Given the description of an element on the screen output the (x, y) to click on. 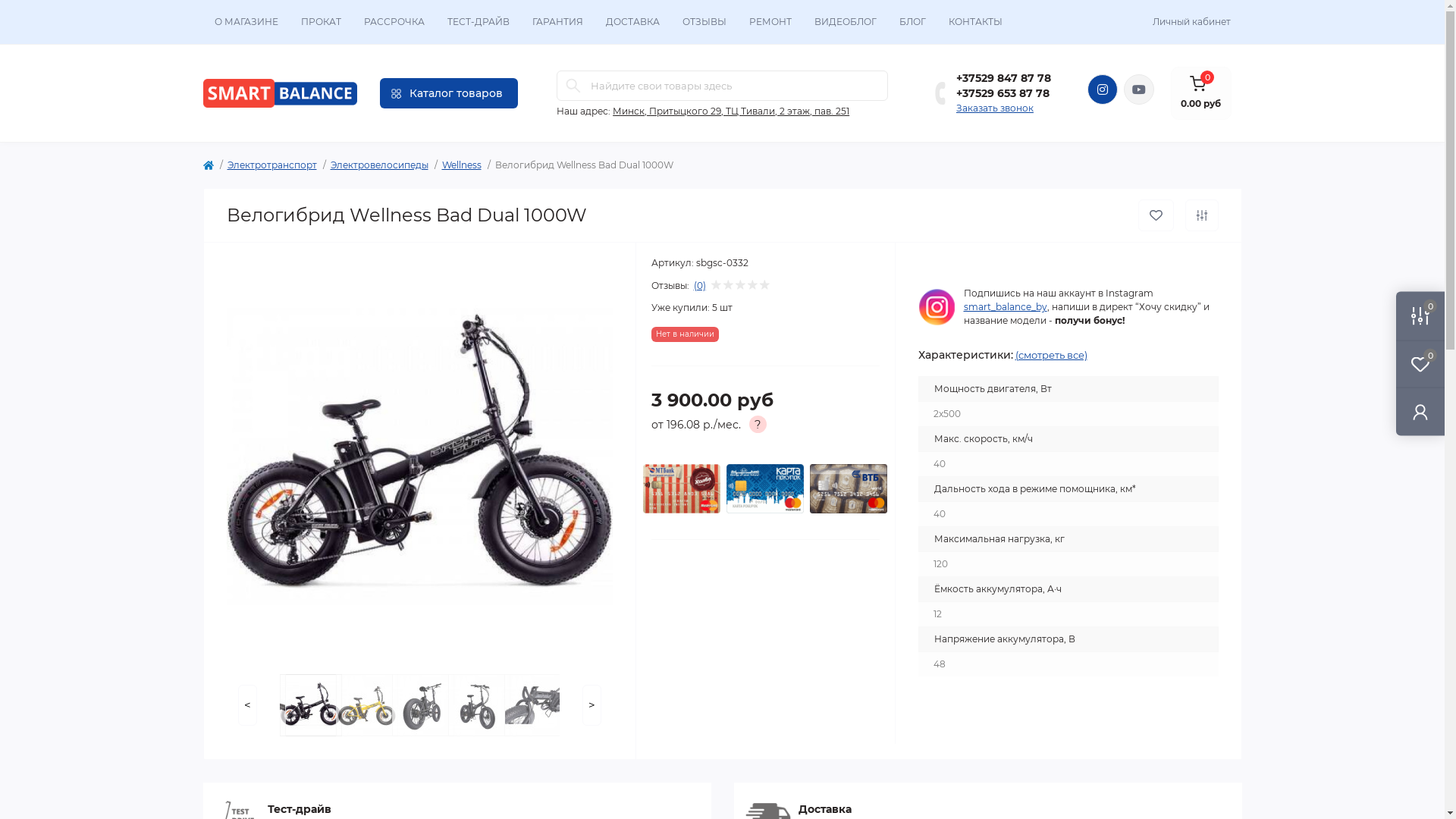
+37529 653 87 78 Element type: text (1003, 92)
smart_balance_by Element type: text (1004, 306)
+37529 847 87 78 Element type: text (1003, 77)
(0) Element type: text (699, 285)
> Element type: text (591, 704)
Wellness Element type: text (460, 164)
Smartbalance.by Element type: hover (280, 92)
0 Element type: text (1420, 315)
< Element type: text (247, 704)
account Element type: hover (1420, 411)
0 Element type: text (1420, 363)
